Given the description of an element on the screen output the (x, y) to click on. 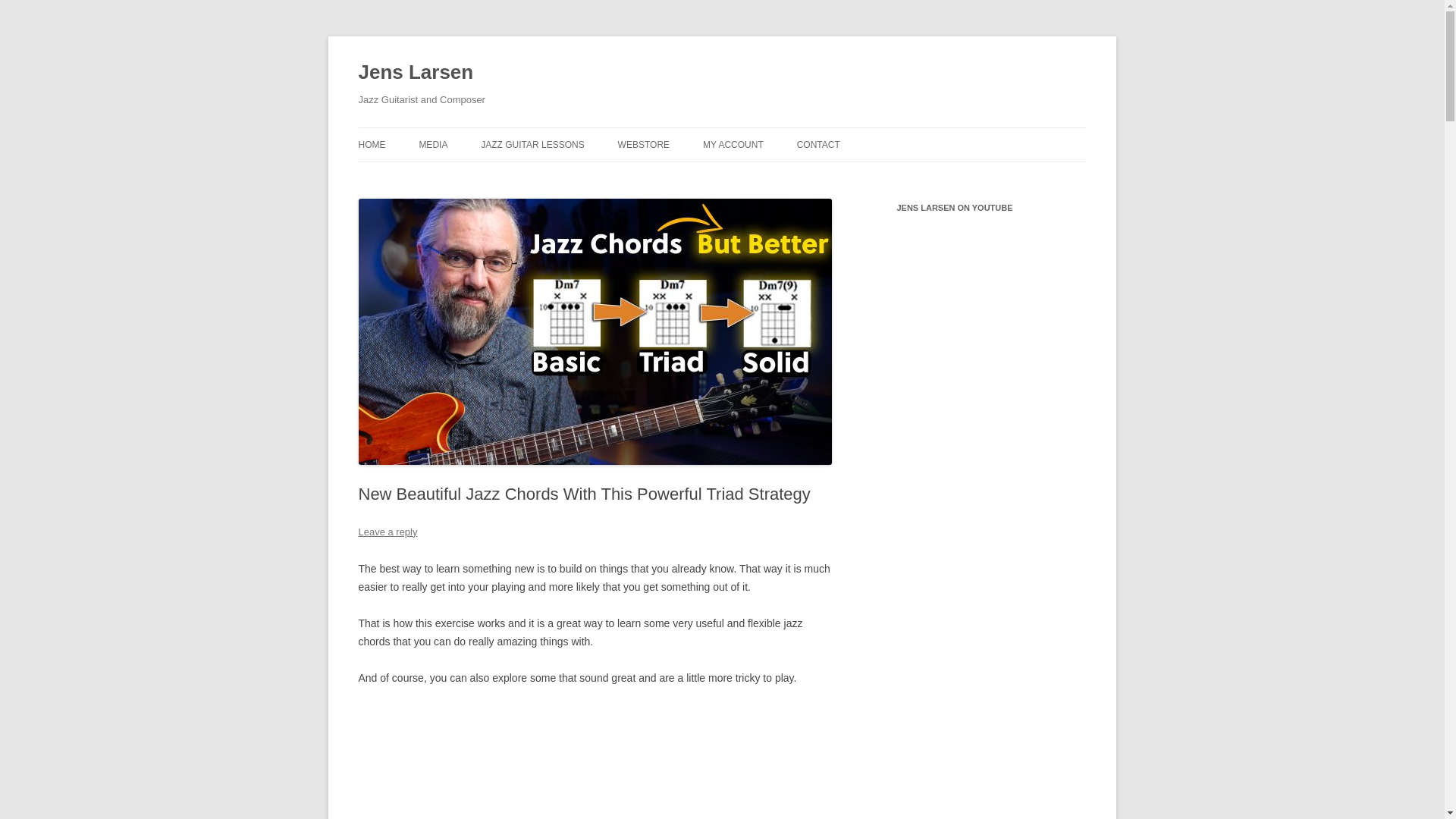
New Beautiful Jazz Chords With This Powerful Triad Strategy (594, 762)
CONTACT (818, 144)
MY ACCOUNT (732, 144)
Leave a reply (387, 531)
ONLINE LESSONS (555, 176)
Jens Larsen (415, 72)
CART (778, 176)
WEBSTORE (643, 144)
